Given the description of an element on the screen output the (x, y) to click on. 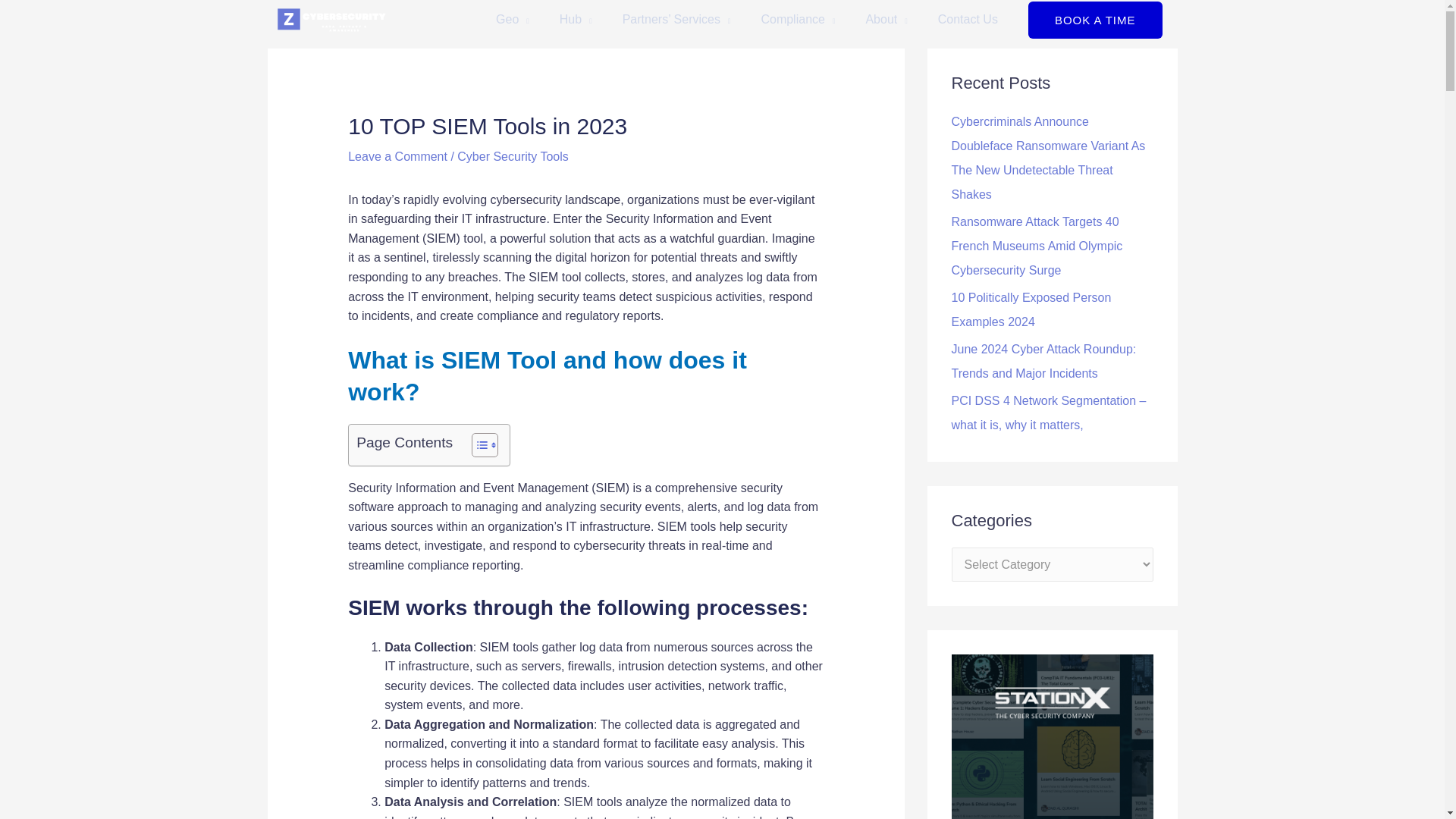
About (885, 22)
Geo (512, 22)
Contact Us (968, 22)
Hub (575, 22)
Cyber Security Knowledge Base for Learning (575, 22)
Cyber Security Marketing Agency (885, 22)
BOOK A TIME (1094, 19)
Compliance (797, 22)
